Given the description of an element on the screen output the (x, y) to click on. 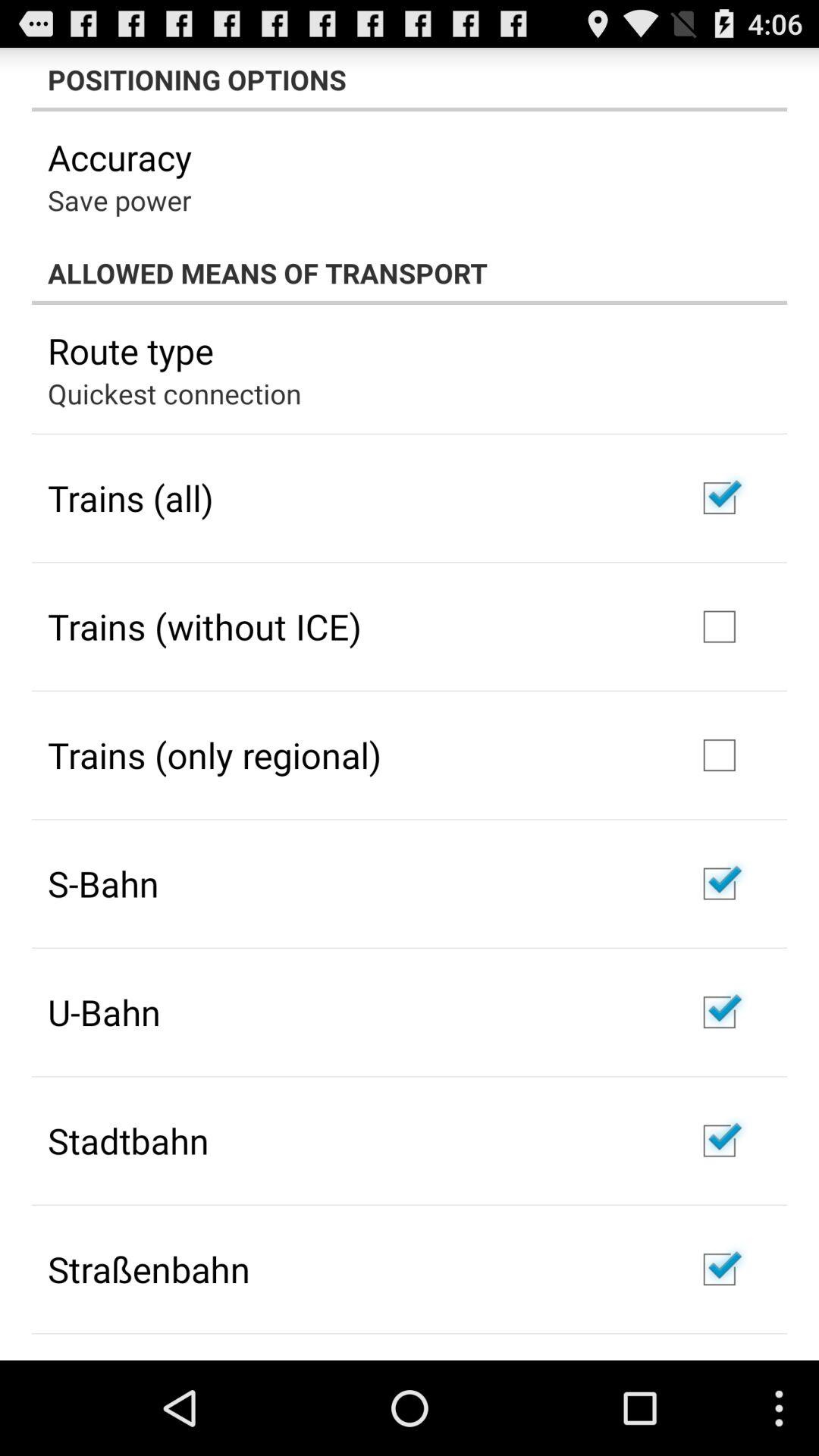
turn off the app above stadtbahn app (103, 1011)
